Given the description of an element on the screen output the (x, y) to click on. 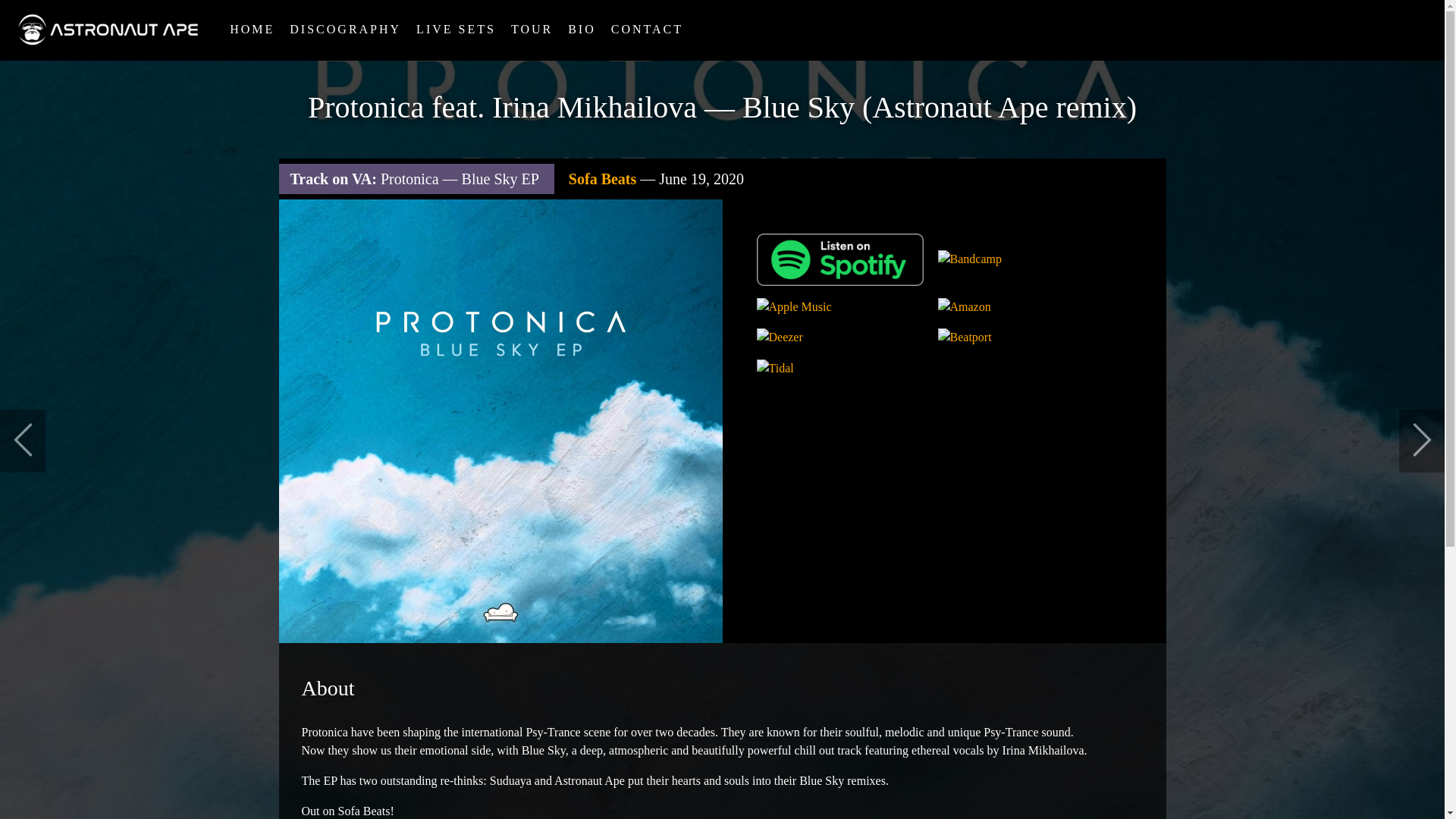
LIVE SETS (456, 30)
TOUR (531, 30)
CONTACT (647, 30)
Sofa Beats (602, 178)
DISCOGRAPHY (345, 30)
HOME (252, 30)
